Given the description of an element on the screen output the (x, y) to click on. 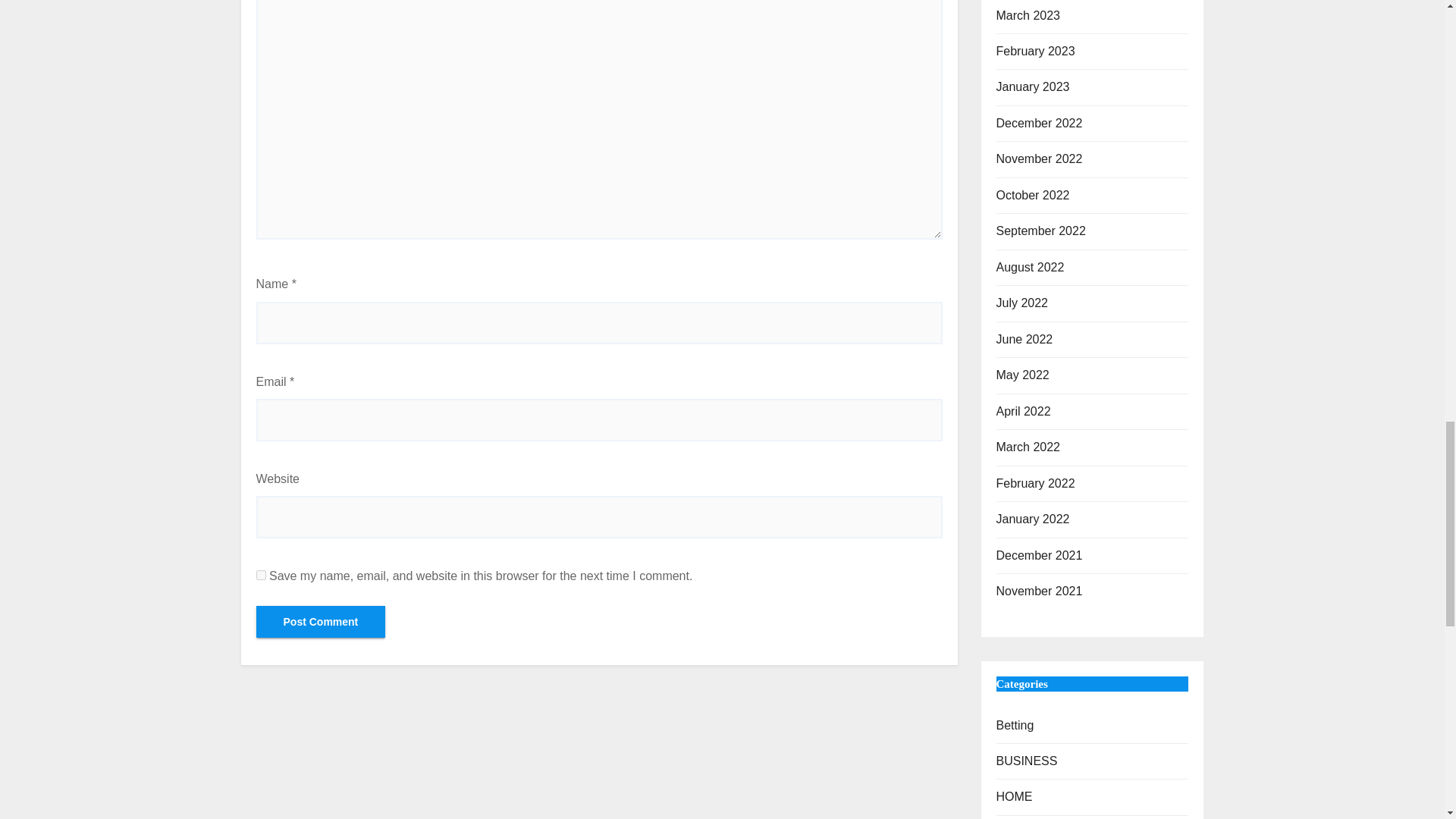
Post Comment (320, 622)
yes (261, 574)
